Given the description of an element on the screen output the (x, y) to click on. 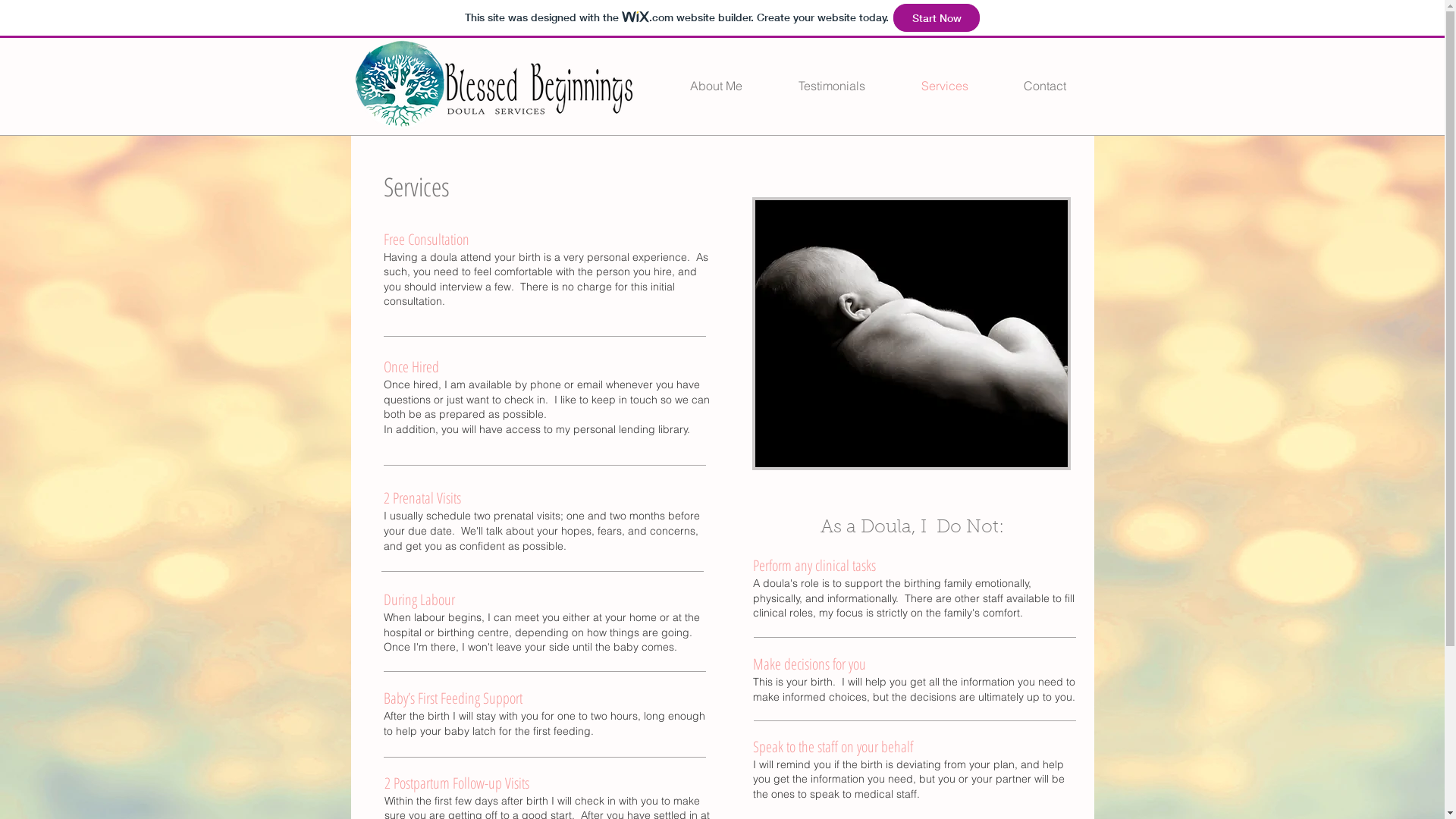
Contact Element type: text (1045, 85)
About Me Element type: text (715, 85)
Testimonials Element type: text (831, 85)
Newborn Baby Element type: hover (911, 333)
Services Element type: text (944, 85)
